Given the description of an element on the screen output the (x, y) to click on. 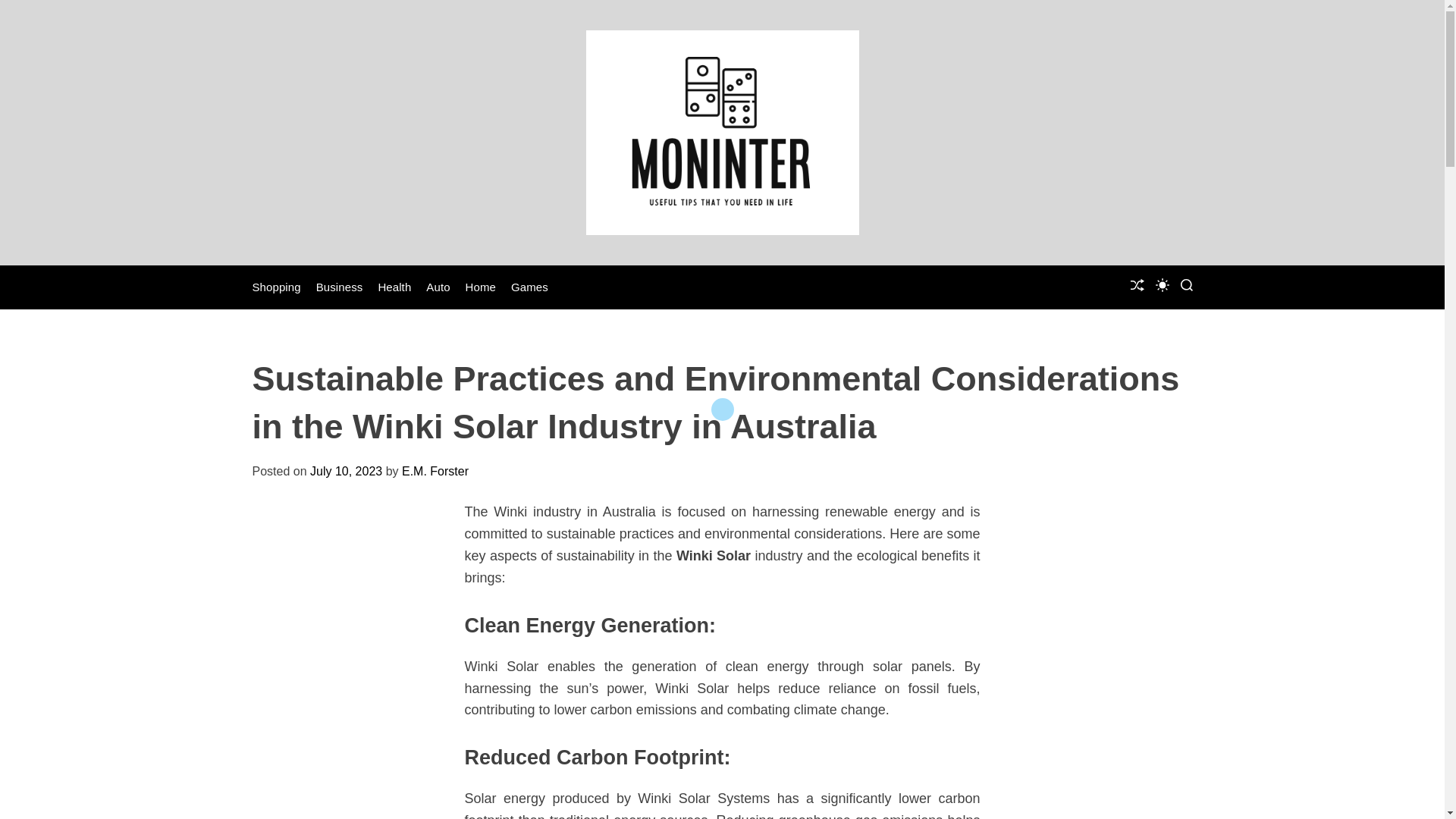
SWITCH COLOR MODE (1162, 284)
Home (480, 287)
Shopping (275, 287)
Games (529, 287)
July 10, 2023 (345, 471)
Business (338, 287)
Health (393, 287)
E.M. Forster (434, 471)
